Given the description of an element on the screen output the (x, y) to click on. 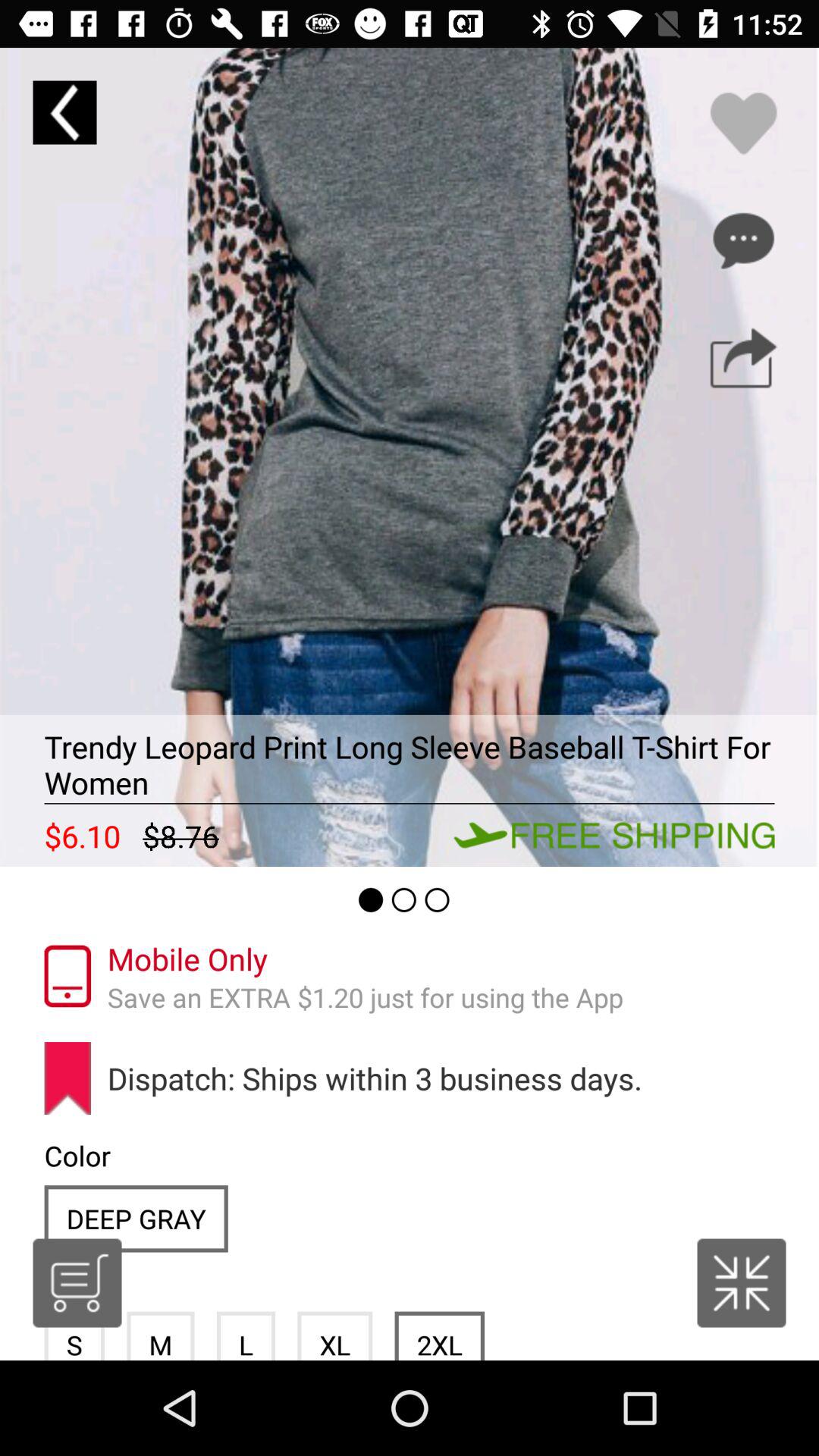
press the item next to the l (334, 1335)
